Given the description of an element on the screen output the (x, y) to click on. 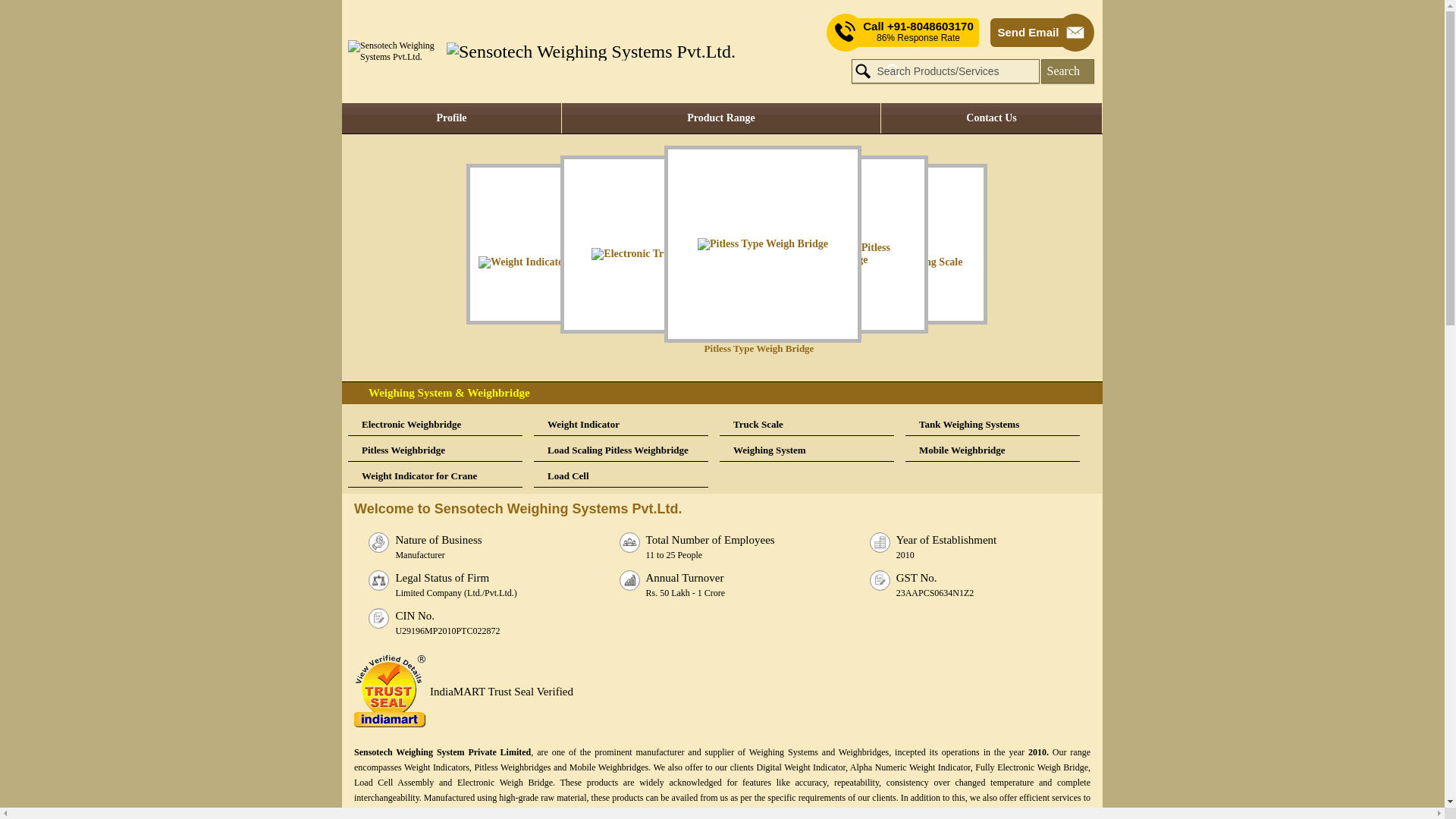
Send SMS Free (917, 32)
Product Range (721, 118)
Load Scaling Pitless Weighbridge (620, 450)
Pitless Type Weigh Bridge (769, 249)
Pitless Weighbridge (434, 450)
Weight Indicator for Crane (434, 476)
Electronic Weighbridge (434, 424)
Truck Scale (806, 424)
Weighing System (806, 450)
Mobile Weighbridge (992, 450)
